Given the description of an element on the screen output the (x, y) to click on. 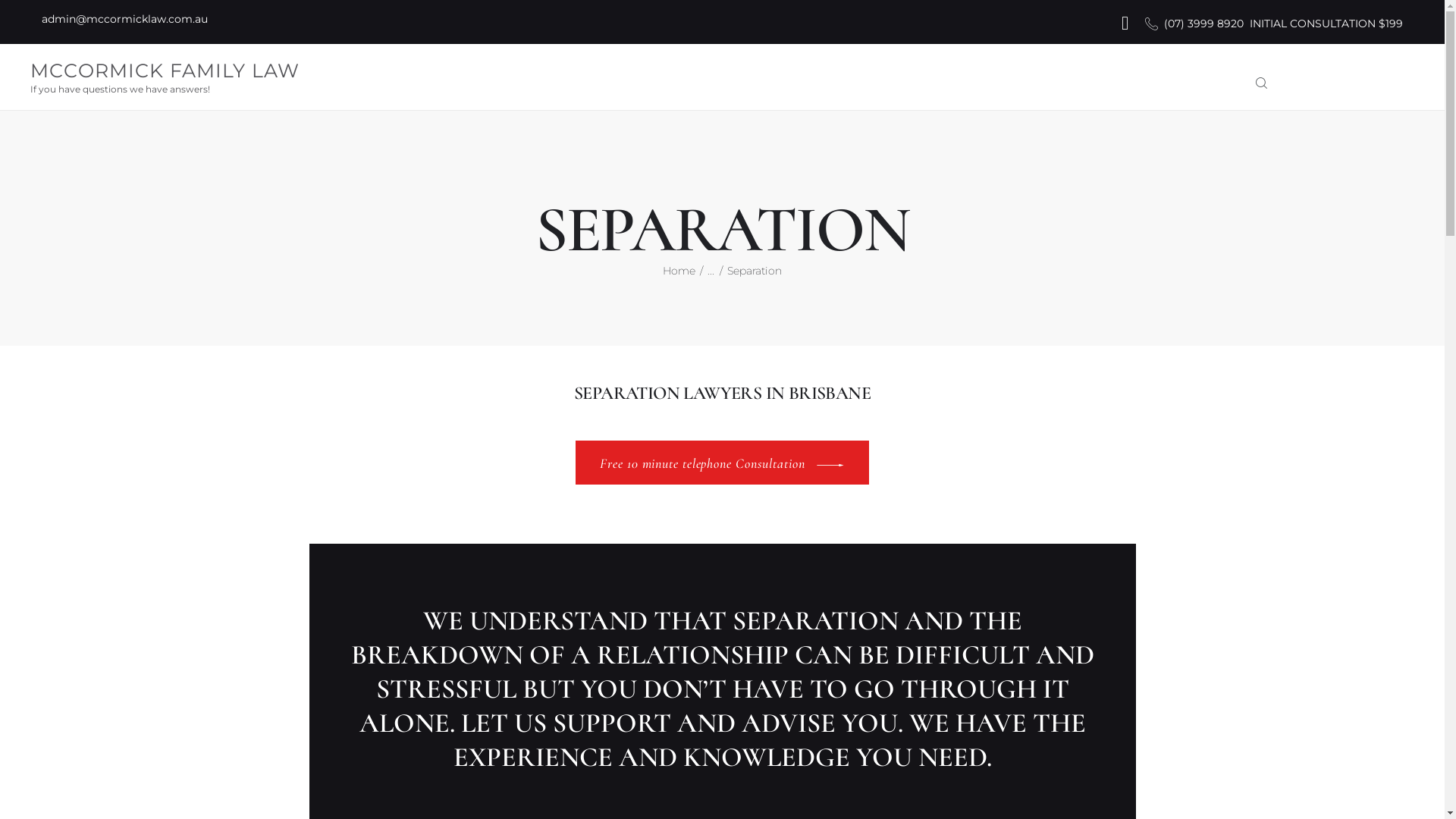
Free 10 minute telephone Consultation Element type: text (722, 462)
 (07) 3999 8920 Element type: text (1194, 23)
Home Element type: text (678, 270)
admin@mccormicklaw.com.au Element type: text (124, 18)
INITIAL CONSULTATION $199 Element type: text (1325, 23)
MCCORMICK FAMILY LAW
If you have questions we have answers! Element type: text (164, 76)
